Given the description of an element on the screen output the (x, y) to click on. 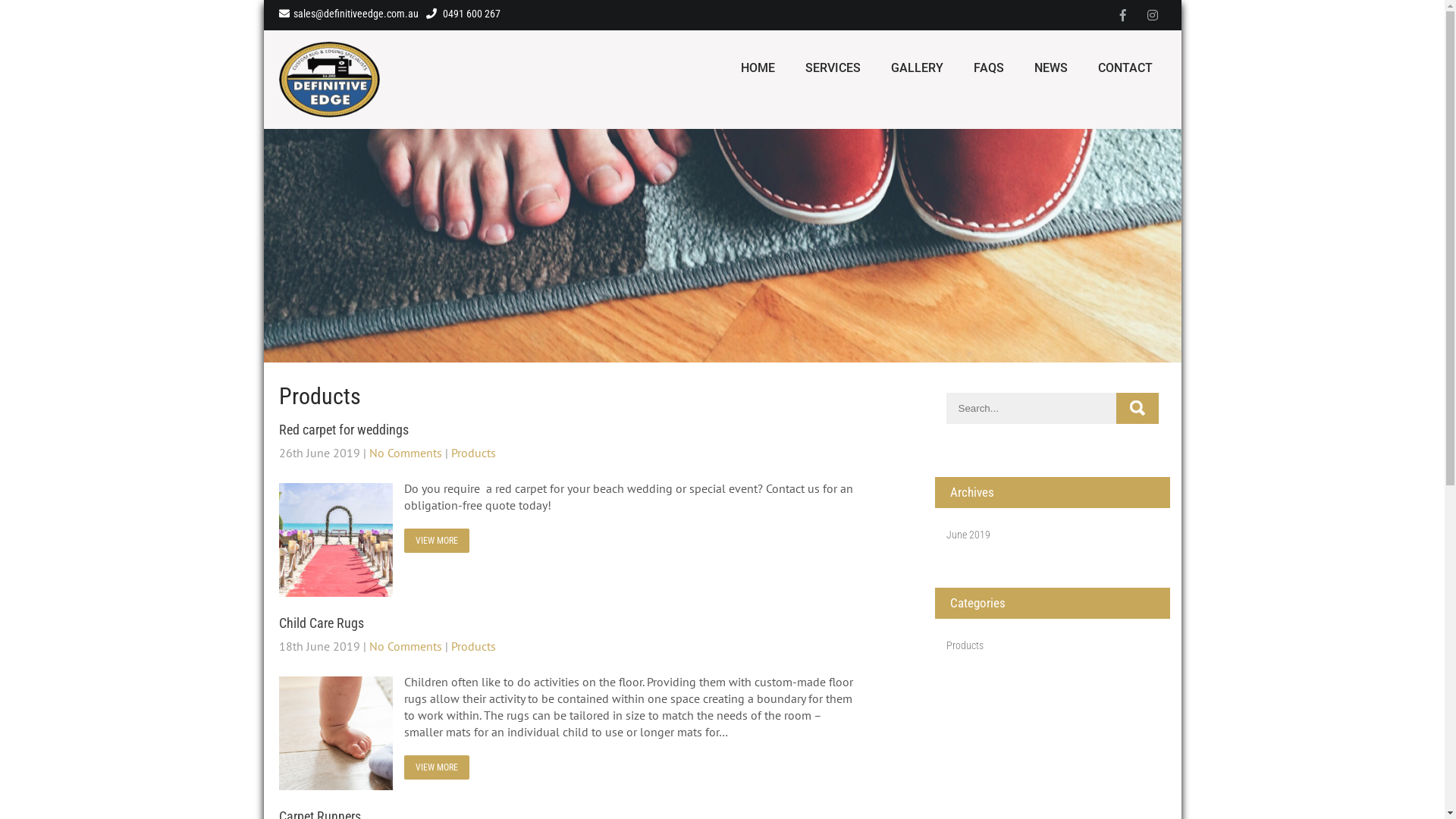
CONTACT Element type: text (1125, 68)
sales@definitiveedge.com.au Element type: text (348, 13)
fab fa-facebook-f Element type: hover (1121, 15)
Products Element type: text (964, 645)
Child Care Rugs Element type: text (321, 622)
GALLERY Element type: text (916, 68)
No Comments Element type: text (404, 452)
SERVICES Element type: text (832, 68)
Red carpet for weddings Element type: text (343, 429)
Products Element type: text (472, 645)
Search Element type: text (1137, 407)
HOME Element type: text (756, 68)
FAQS Element type: text (988, 68)
Products Element type: text (472, 452)
VIEW MORE Element type: text (435, 540)
fab fa-instagram Element type: hover (1152, 15)
NEWS Element type: text (1050, 68)
VIEW MORE Element type: text (435, 767)
No Comments Element type: text (404, 645)
June 2019 Element type: text (968, 534)
